Given the description of an element on the screen output the (x, y) to click on. 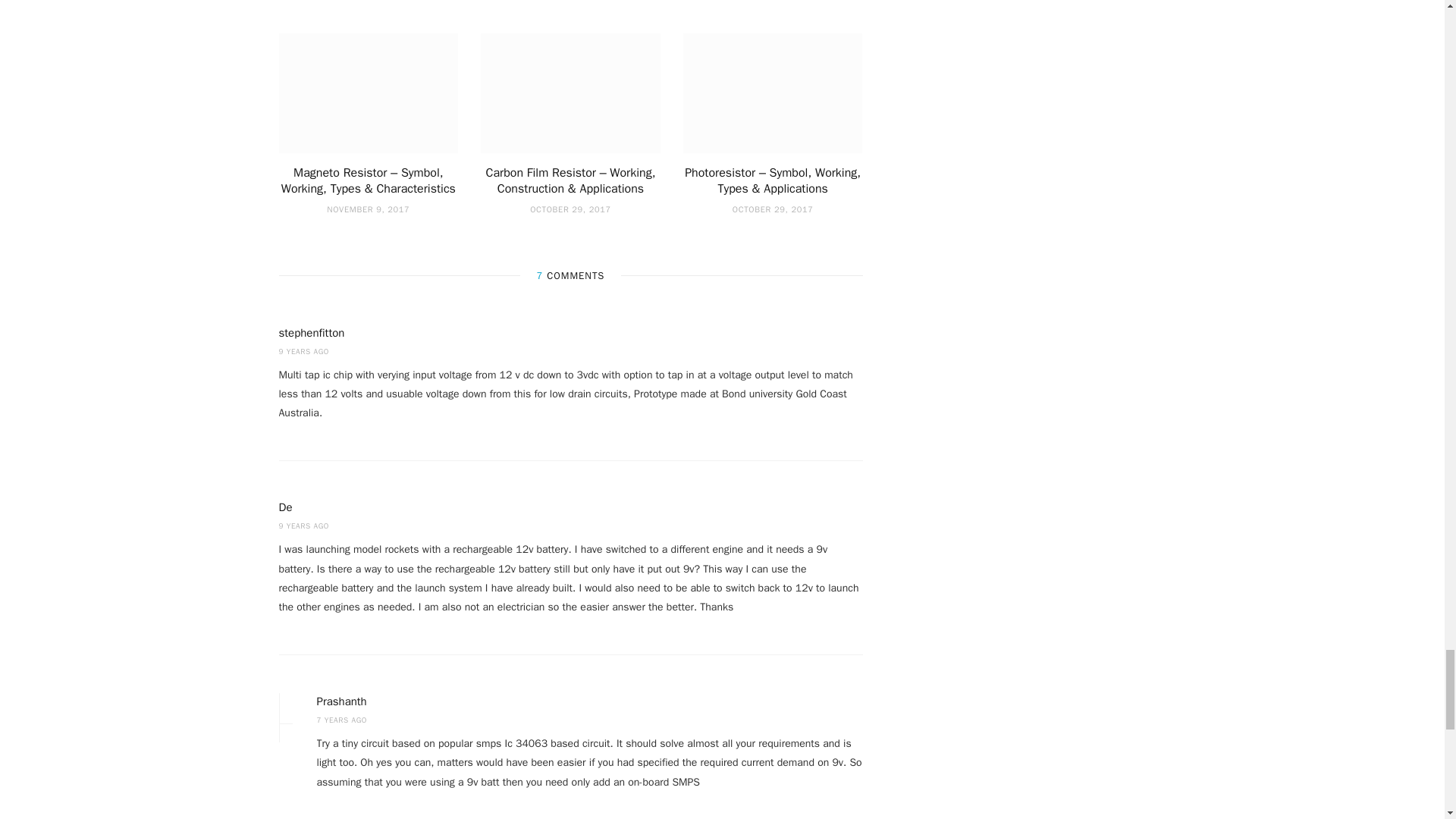
OCTOBER 29, 2017 (570, 208)
OCTOBER 29, 2017 (772, 208)
NOVEMBER 9, 2017 (367, 208)
